Given the description of an element on the screen output the (x, y) to click on. 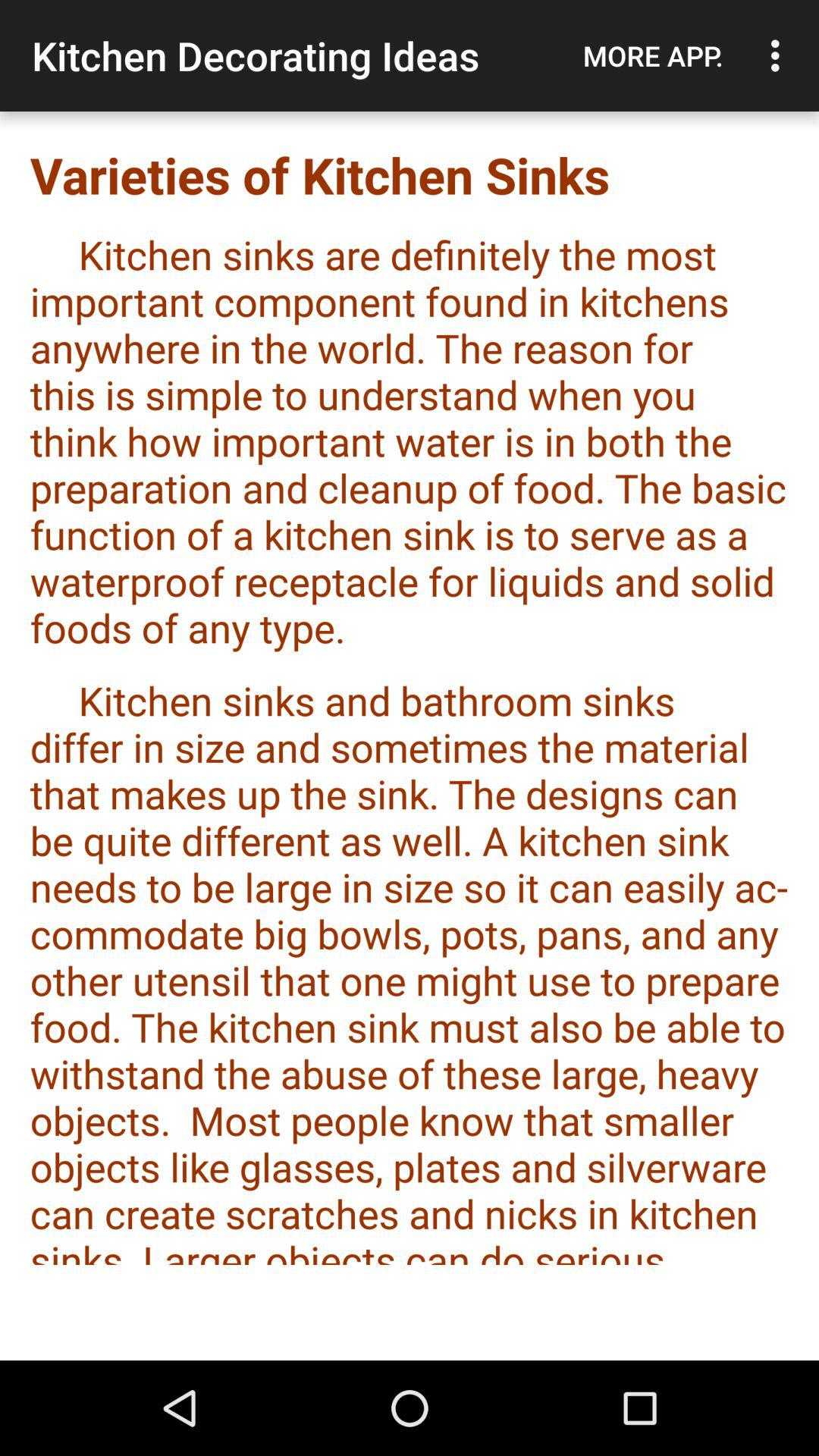
open the app to the right of the kitchen decorating ideas (653, 55)
